Given the description of an element on the screen output the (x, y) to click on. 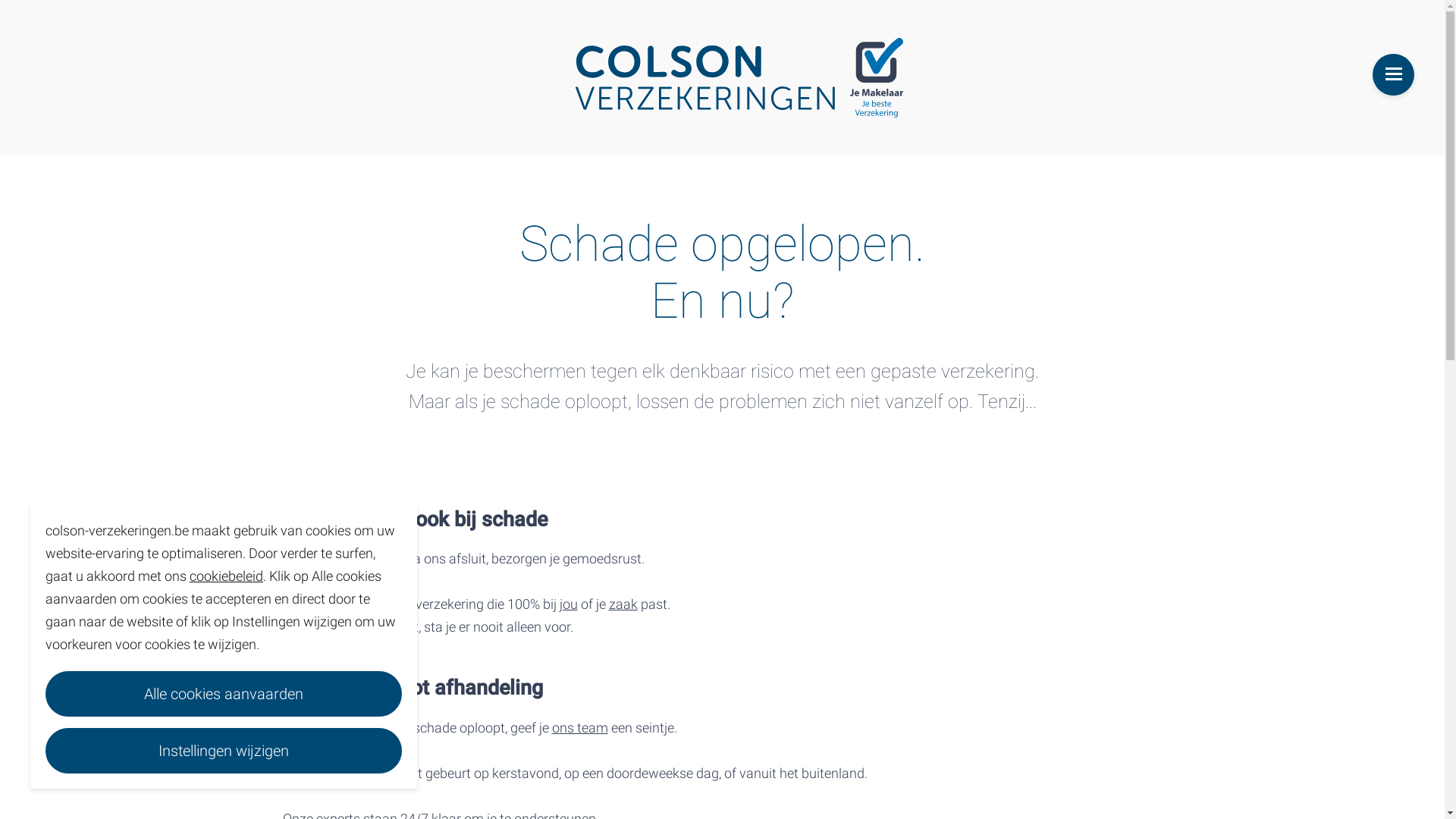
ons team Element type: text (580, 727)
Alle cookies aanvaarden Element type: text (223, 693)
zaak Element type: text (622, 603)
Instellingen wijzigen Element type: text (223, 750)
cookiebeleid Element type: text (226, 575)
jou Element type: text (568, 603)
